Given the description of an element on the screen output the (x, y) to click on. 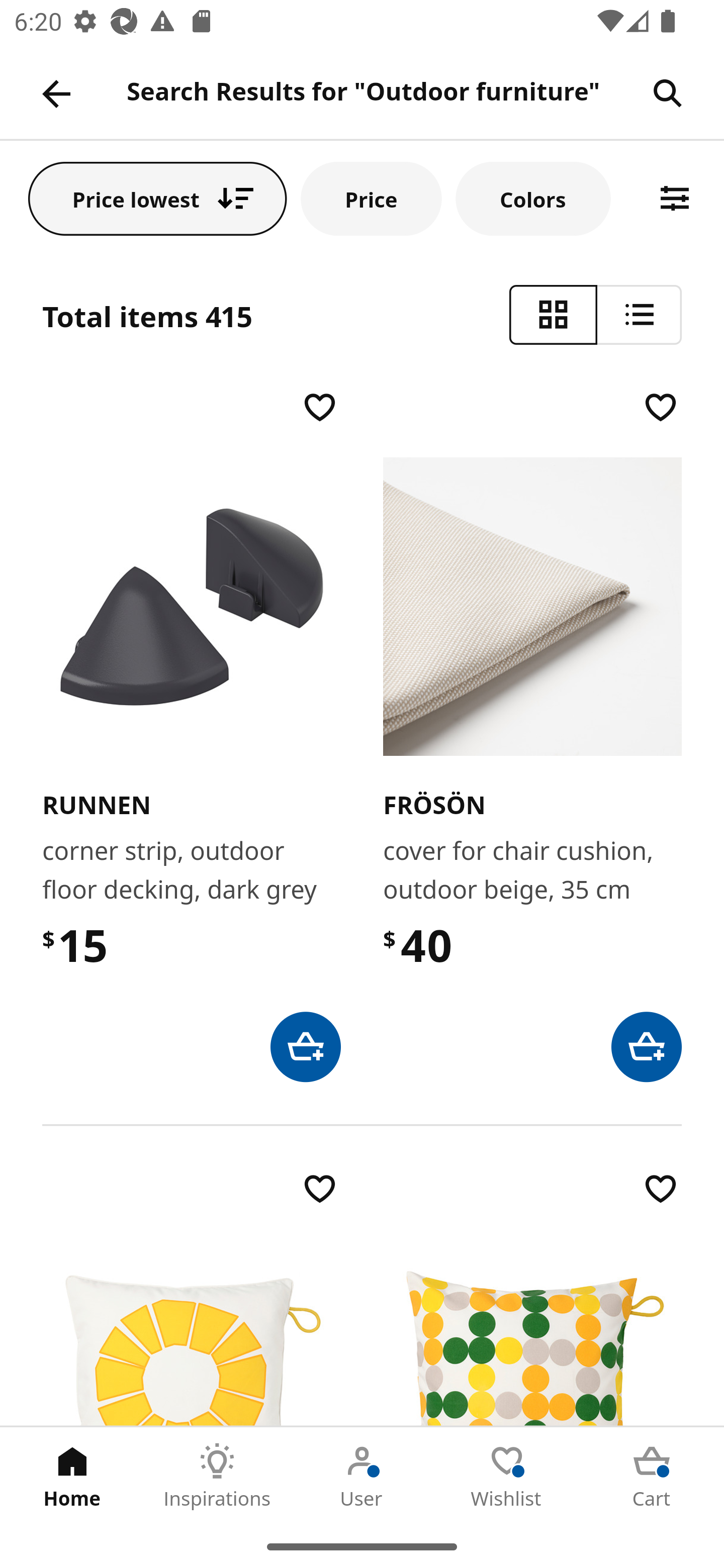
Price lowest (157, 198)
Price (371, 198)
Colors (533, 198)
Home
Tab 1 of 5 (72, 1476)
Inspirations
Tab 2 of 5 (216, 1476)
User
Tab 3 of 5 (361, 1476)
Wishlist
Tab 4 of 5 (506, 1476)
Cart
Tab 5 of 5 (651, 1476)
